Given the description of an element on the screen output the (x, y) to click on. 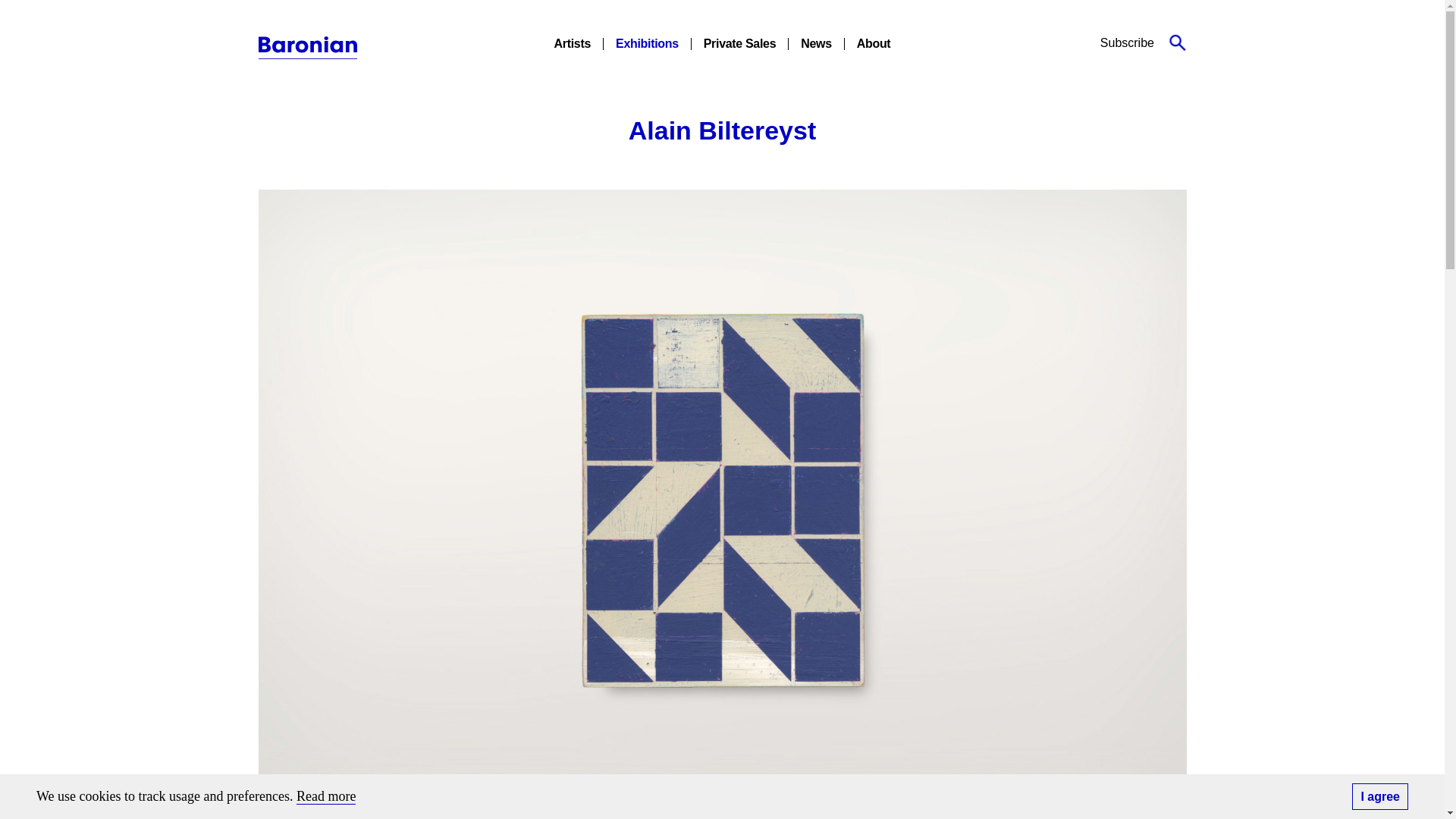
Baronian (306, 47)
About (874, 42)
Subscribe (1127, 42)
Read more (326, 796)
News (815, 42)
Private Sales (739, 42)
Exhibitions (646, 42)
I agree (1379, 796)
Artists (572, 42)
